Given the description of an element on the screen output the (x, y) to click on. 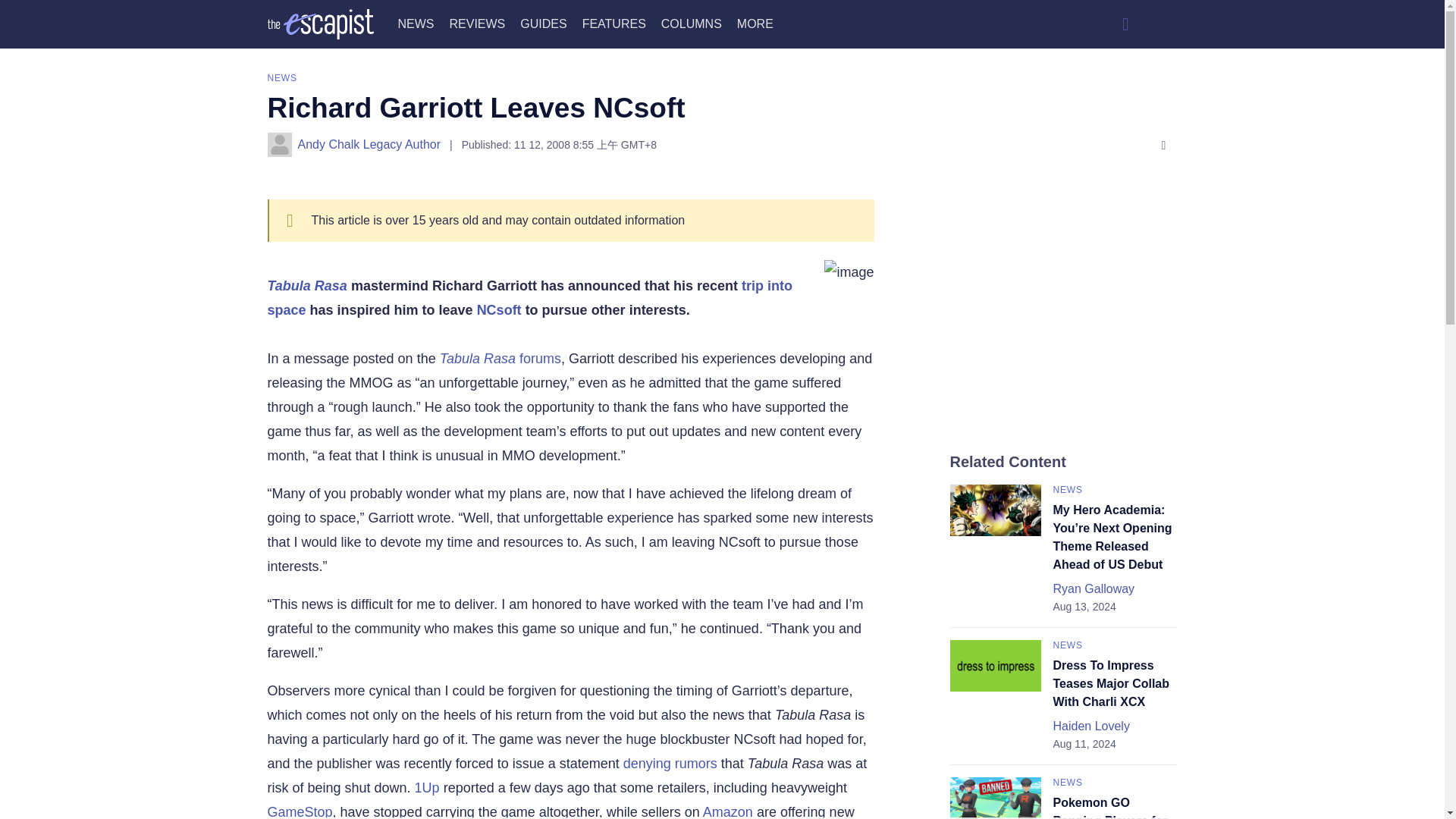
Dark Mode (1161, 24)
REVIEWS (476, 23)
FEATURES (614, 23)
GUIDES (542, 23)
Search (1124, 24)
COLUMNS (691, 23)
NEWS (415, 23)
